Given the description of an element on the screen output the (x, y) to click on. 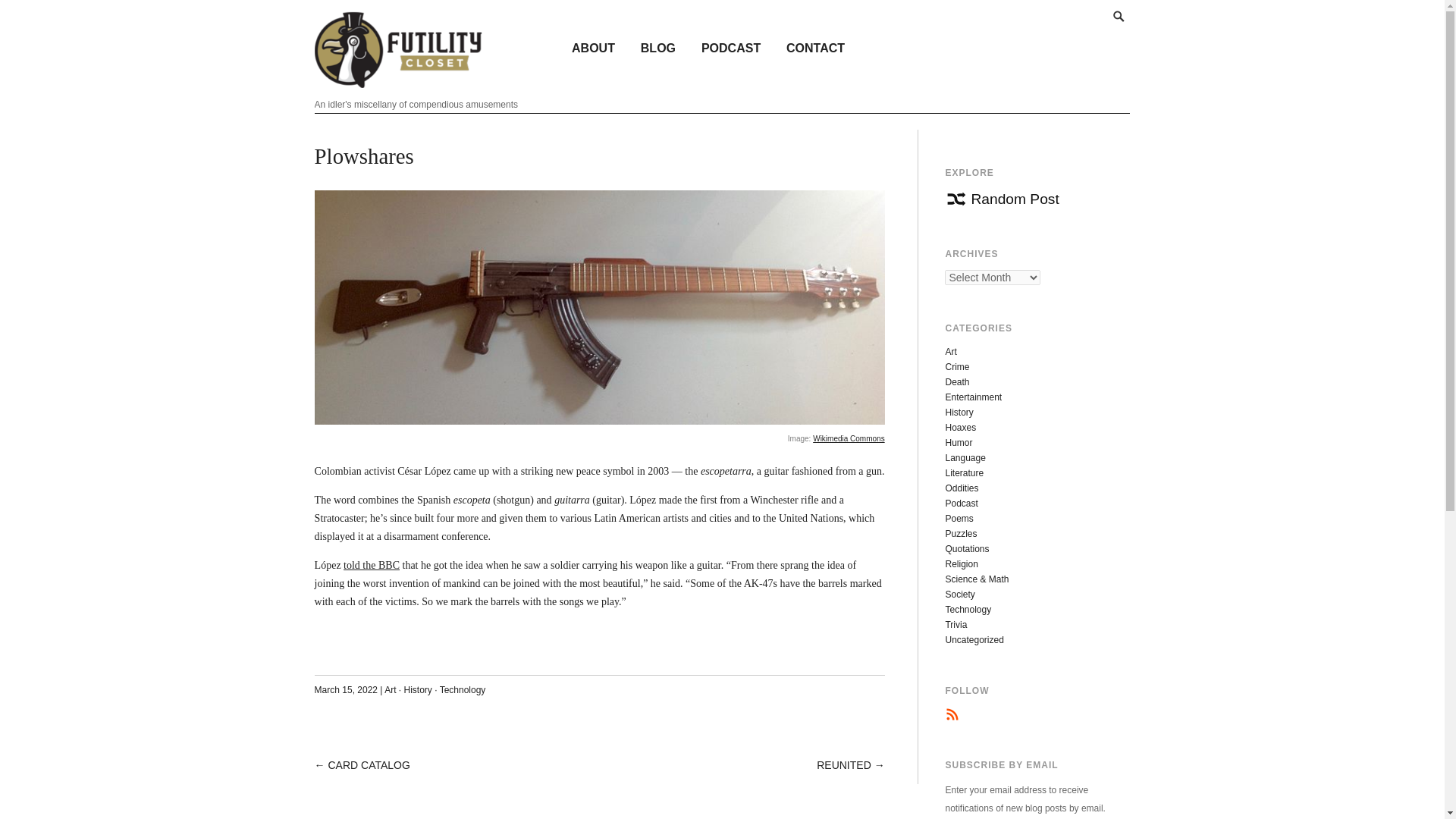
March 15, 2022 (345, 689)
CONTACT (815, 47)
Literature (964, 472)
History (416, 689)
Religion (960, 563)
REUNITED (843, 765)
ABOUT (593, 47)
BLOG (657, 47)
Oddities (961, 488)
Technology (967, 609)
